Given the description of an element on the screen output the (x, y) to click on. 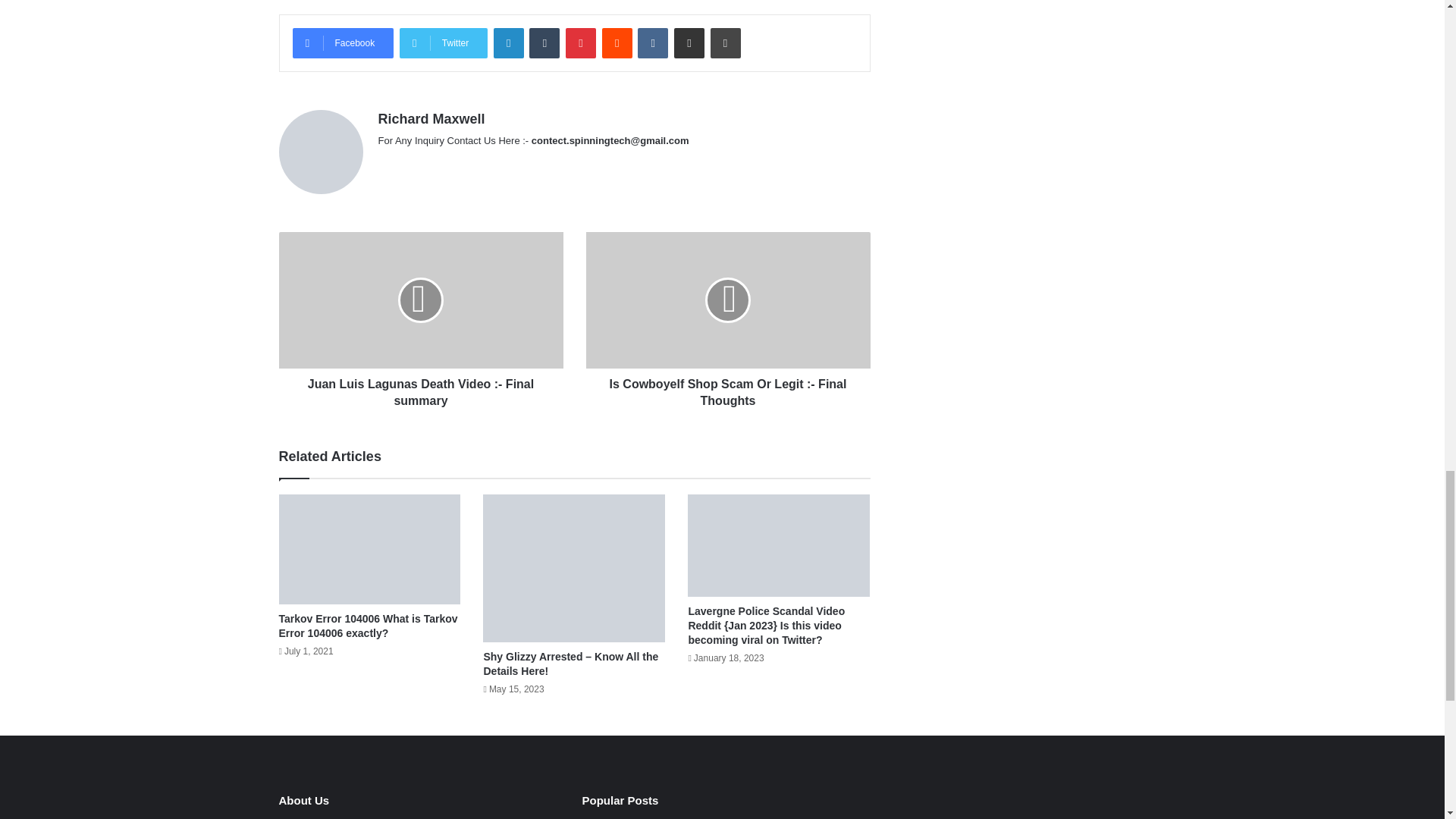
Facebook (343, 42)
Pinterest (580, 42)
Print (725, 42)
Tumblr (544, 42)
Reddit (616, 42)
LinkedIn (508, 42)
VKontakte (652, 42)
Share via Email (689, 42)
LinkedIn (508, 42)
Share via Email (689, 42)
